Given the description of an element on the screen output the (x, y) to click on. 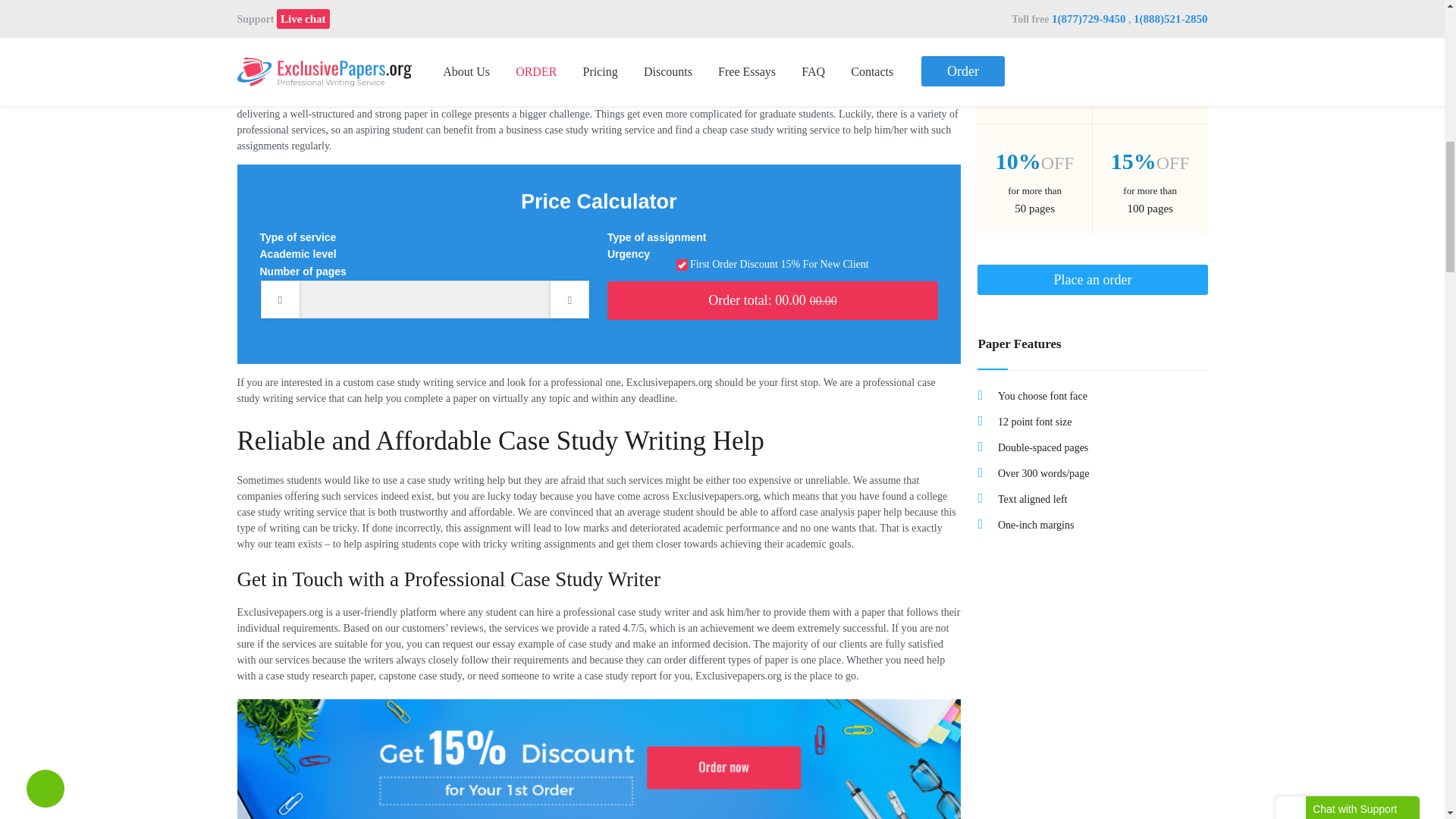
Order total: 00.0000.00 (772, 300)
Case Study Writing Service (597, 13)
